Given the description of an element on the screen output the (x, y) to click on. 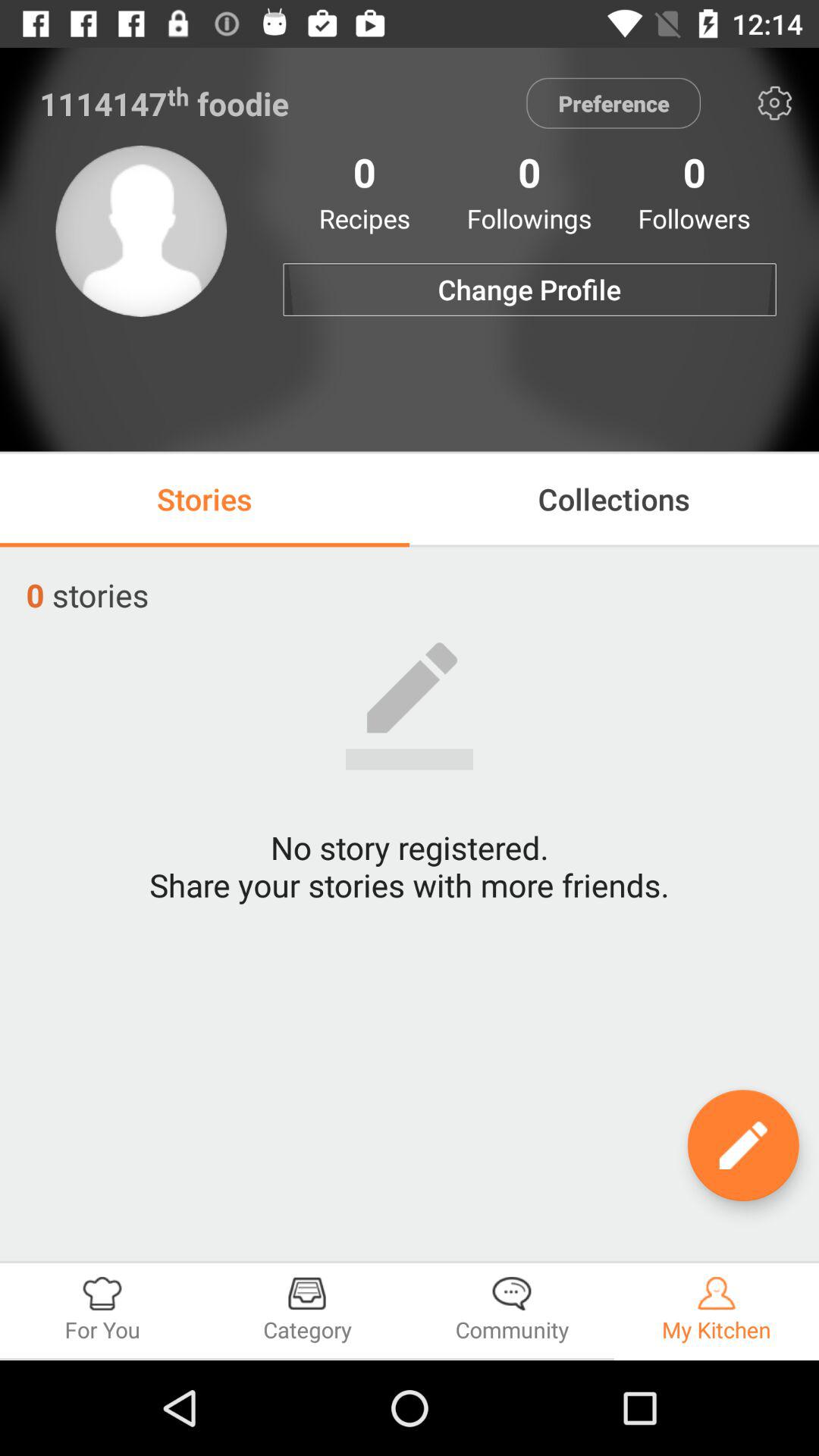
settings option (774, 103)
